Given the description of an element on the screen output the (x, y) to click on. 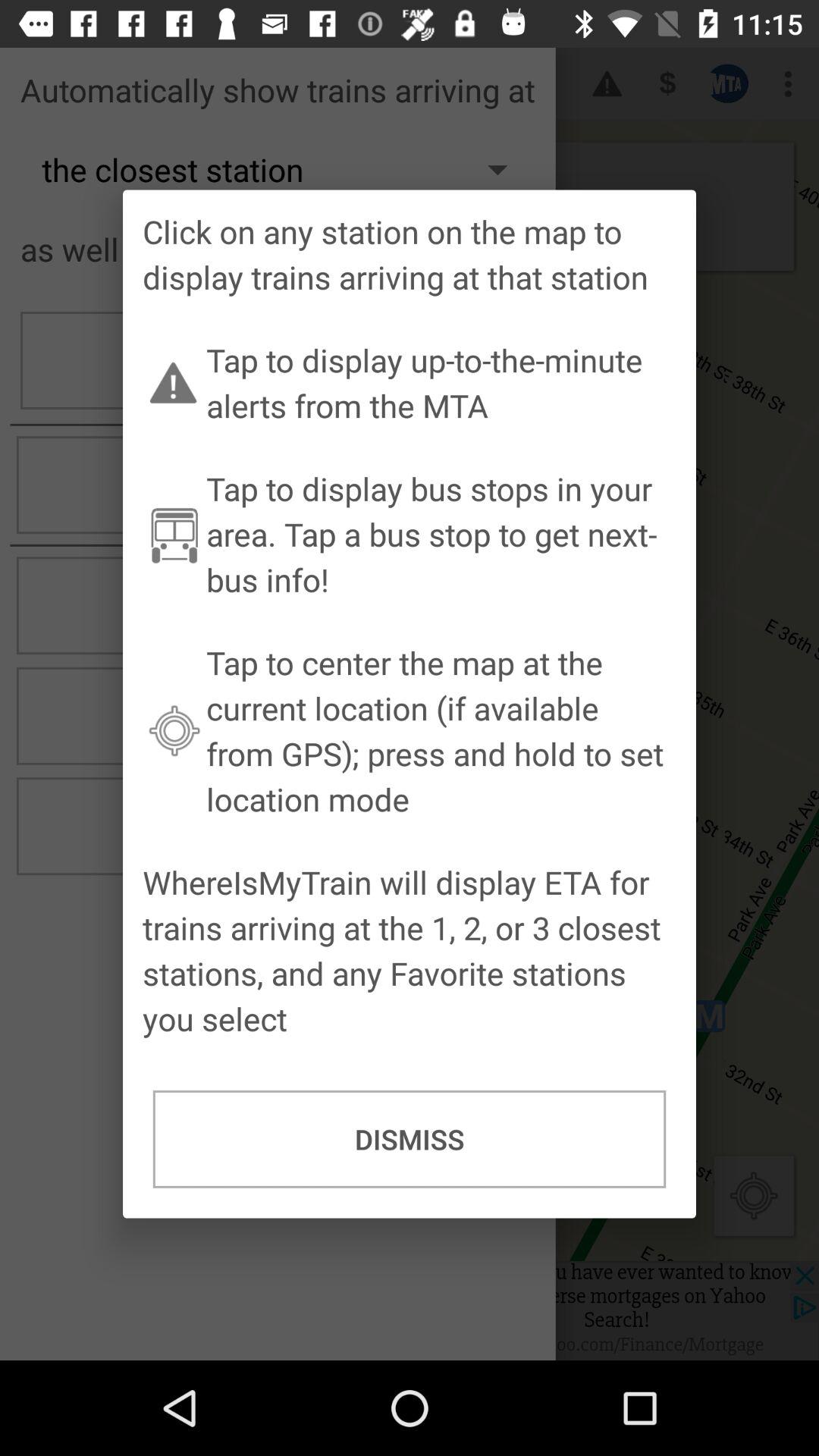
turn on dismiss icon (409, 1139)
